Given the description of an element on the screen output the (x, y) to click on. 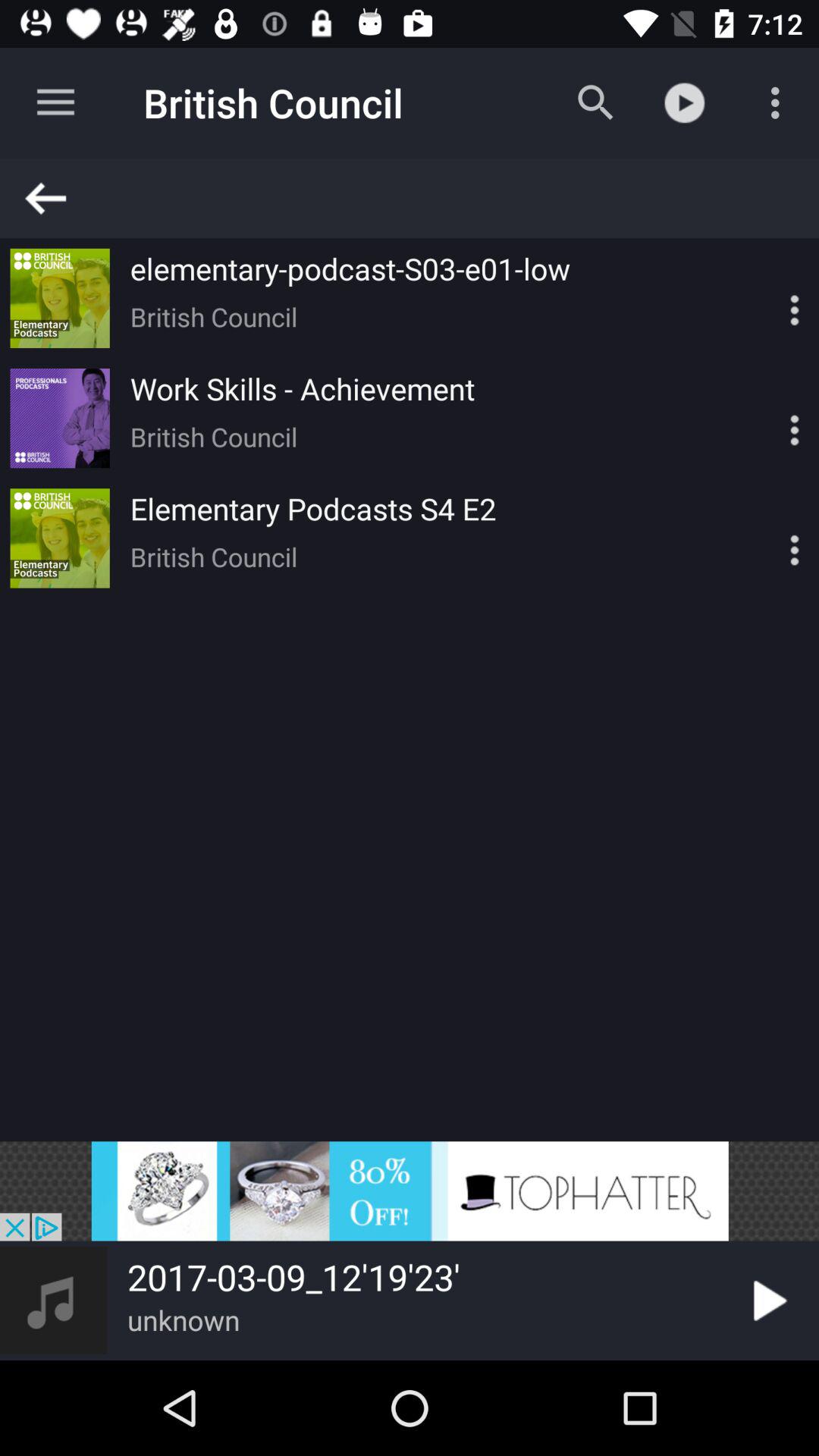
view video settings (768, 418)
